Given the description of an element on the screen output the (x, y) to click on. 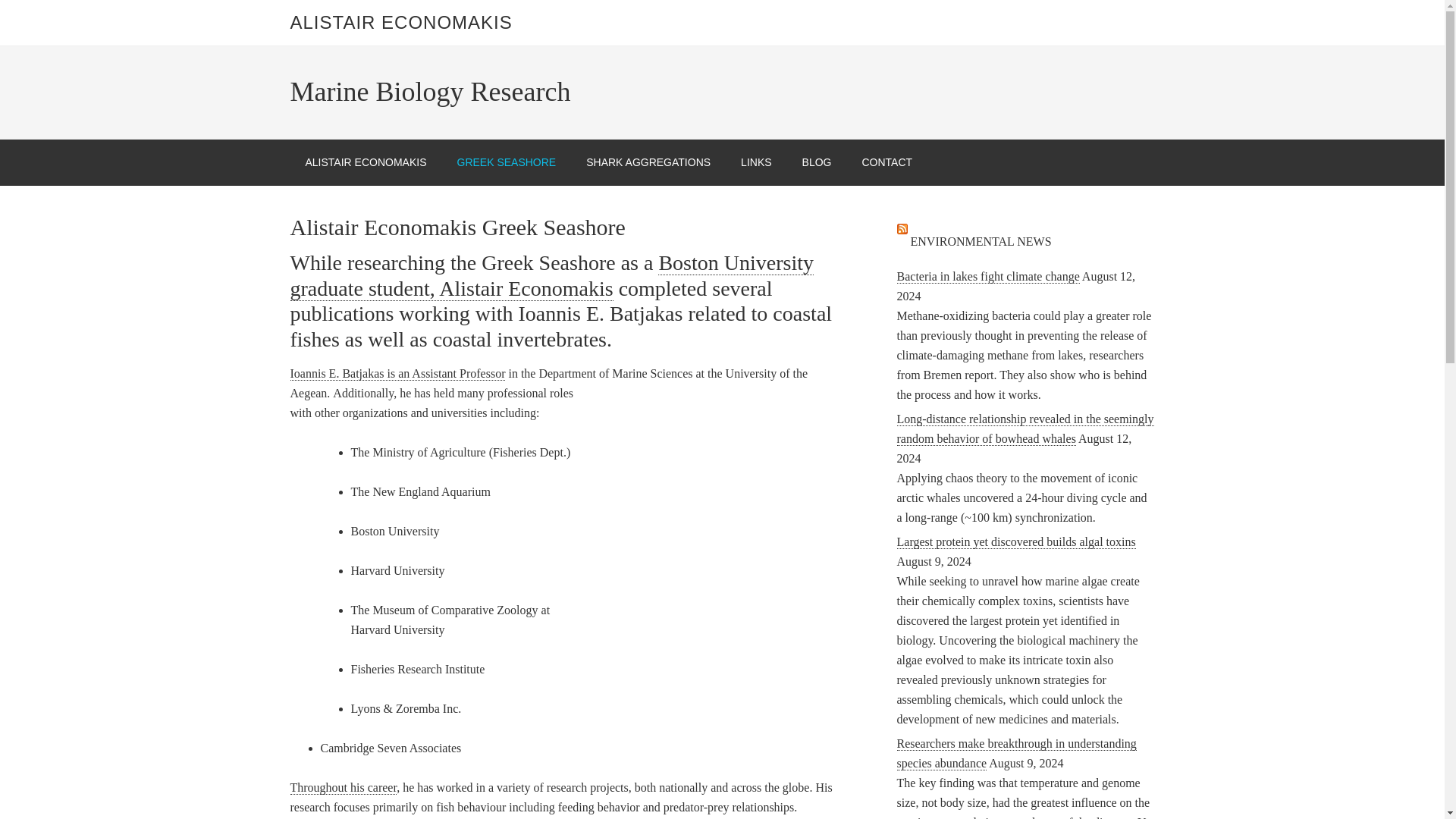
Throughout his career (342, 787)
BLOG (817, 162)
SHARK AGGREGATIONS (647, 162)
ALISTAIR ECONOMAKIS (365, 162)
ALISTAIR ECONOMAKIS (400, 22)
Boston University graduate student, Alistair Economakis (550, 275)
ENVIRONMENTAL NEWS (980, 241)
CONTACT (886, 162)
Ioannis E. Batjakas is an Assistant Professor (397, 373)
LINKS (755, 162)
